Given the description of an element on the screen output the (x, y) to click on. 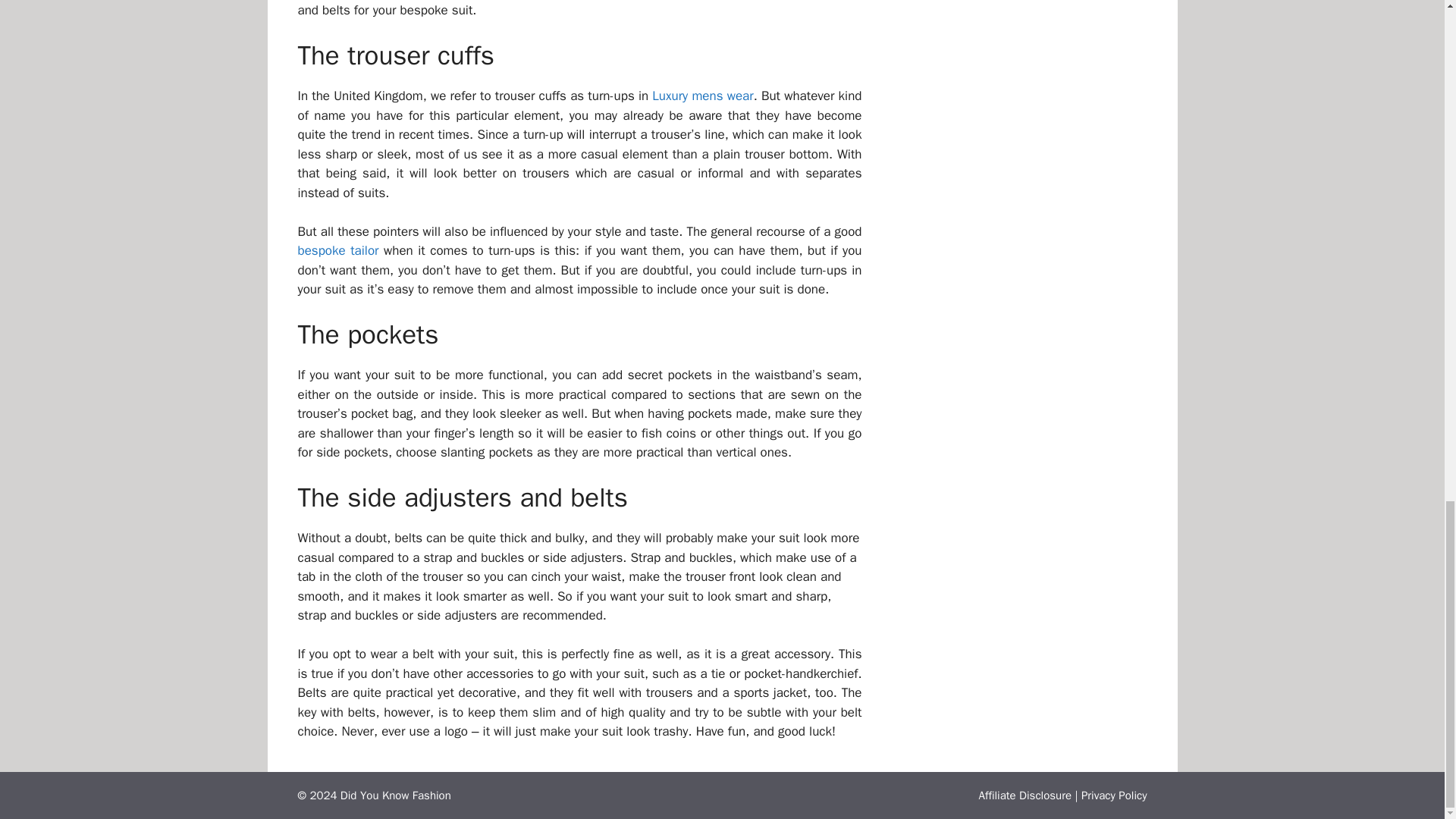
Luxury mens wear (702, 95)
bespoke tailor (337, 250)
